Given the description of an element on the screen output the (x, y) to click on. 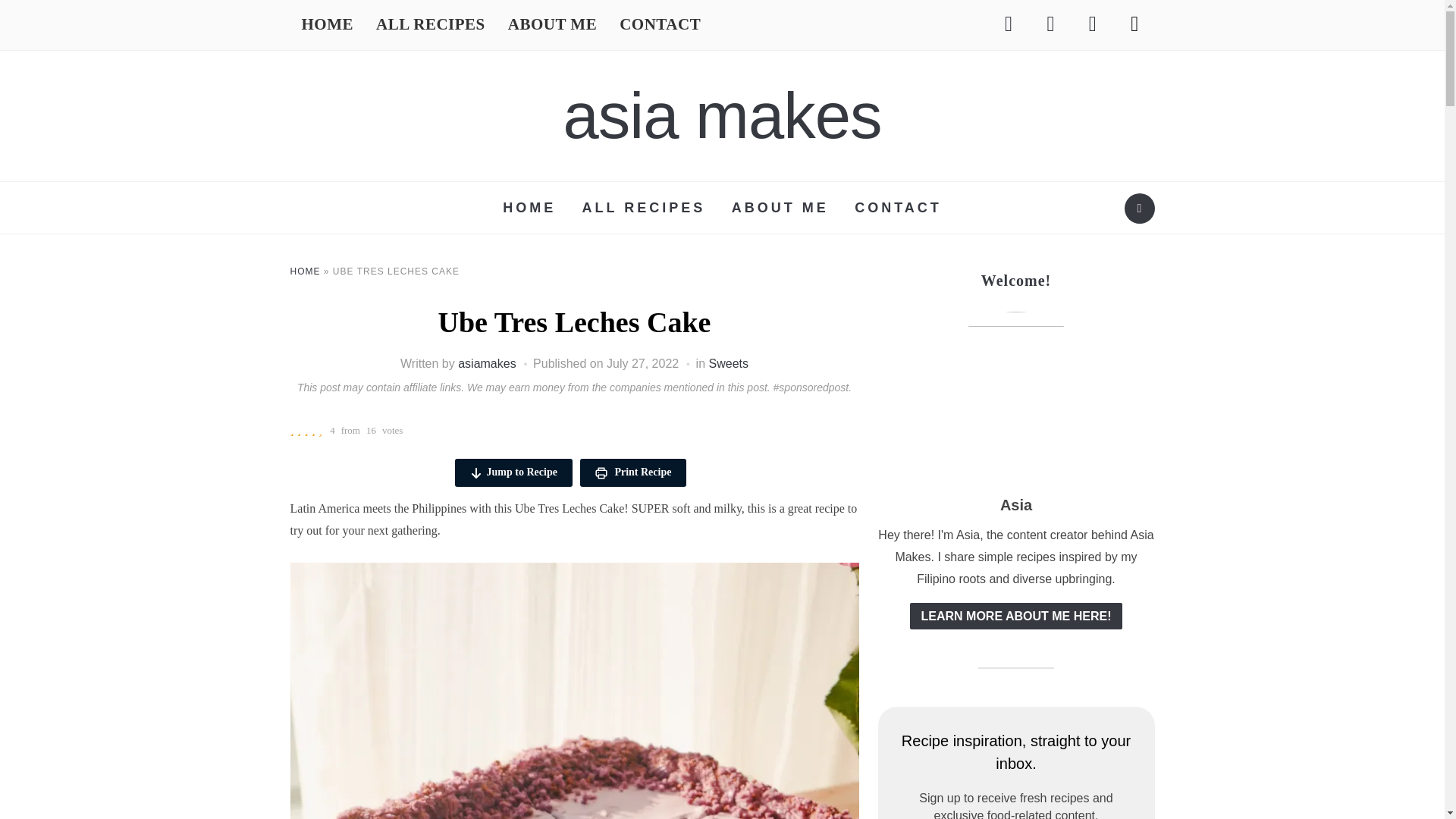
ALL RECIPES (430, 24)
Posts by asiamakes (486, 363)
pinterest (1050, 22)
tiktok (1092, 22)
asia makes (722, 115)
mail (1134, 22)
CONTACT (659, 24)
instagram (1008, 22)
Search (1139, 208)
HOME (327, 24)
